Given the description of an element on the screen output the (x, y) to click on. 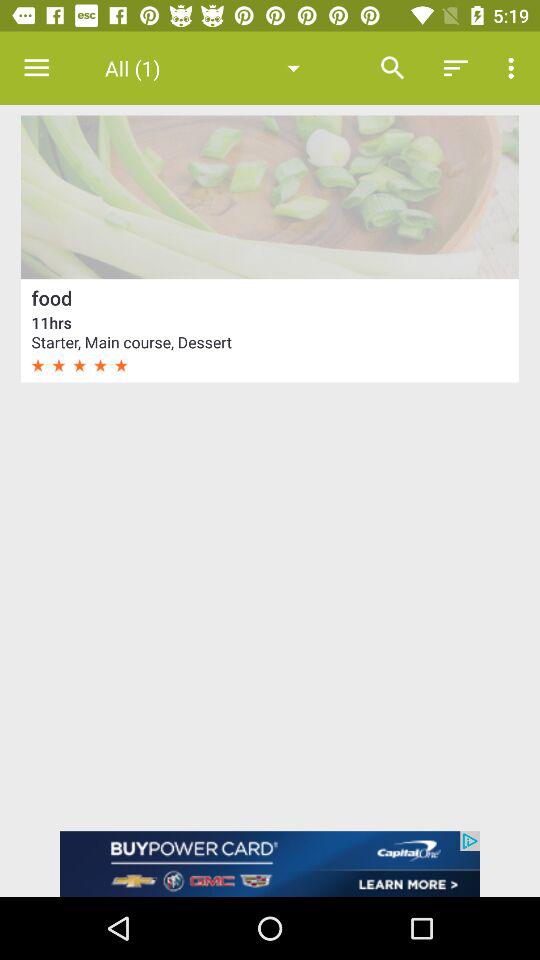
open an advertised app (270, 864)
